Given the description of an element on the screen output the (x, y) to click on. 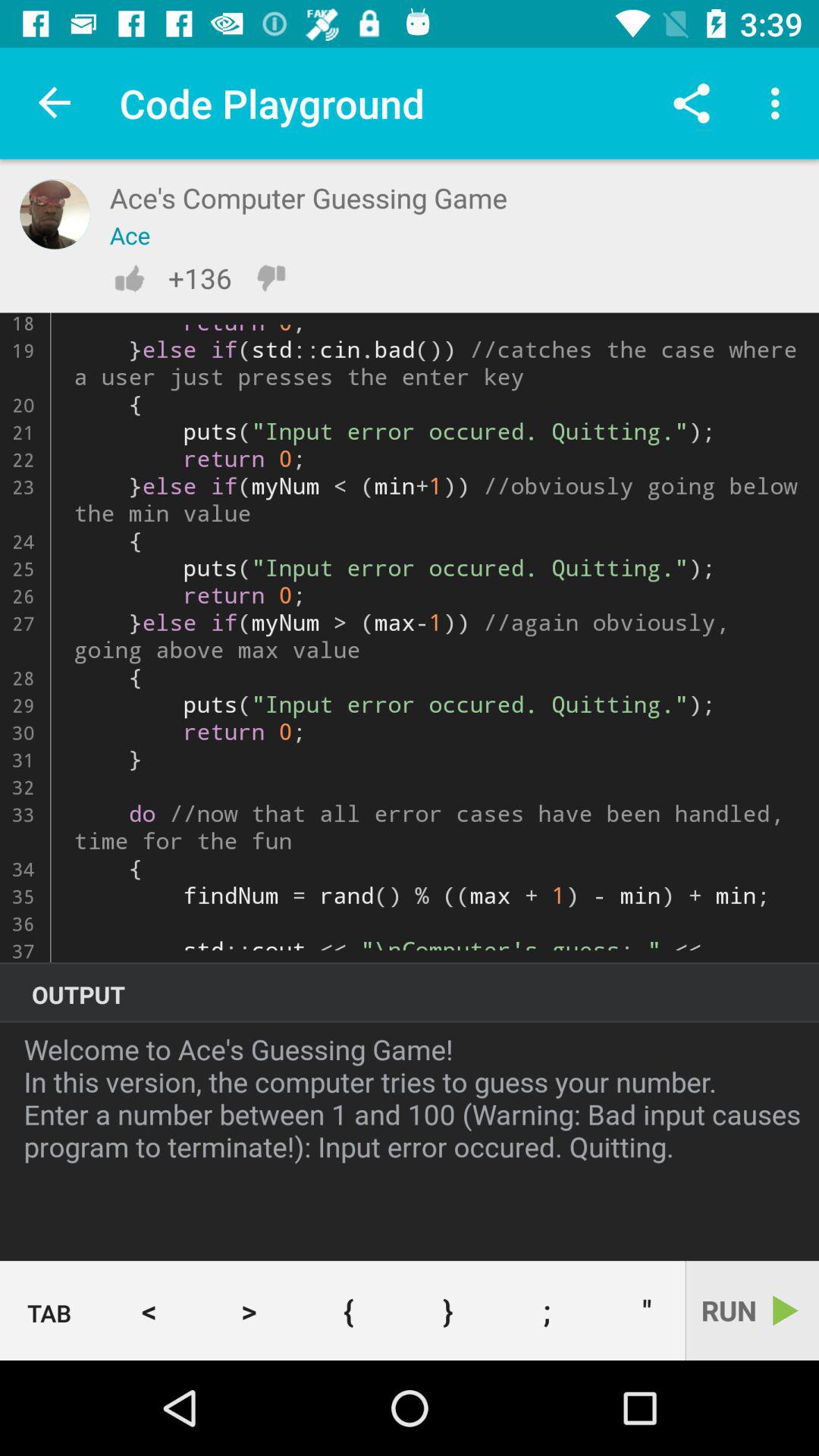
tap the icon to the right of code playground (691, 103)
